Given the description of an element on the screen output the (x, y) to click on. 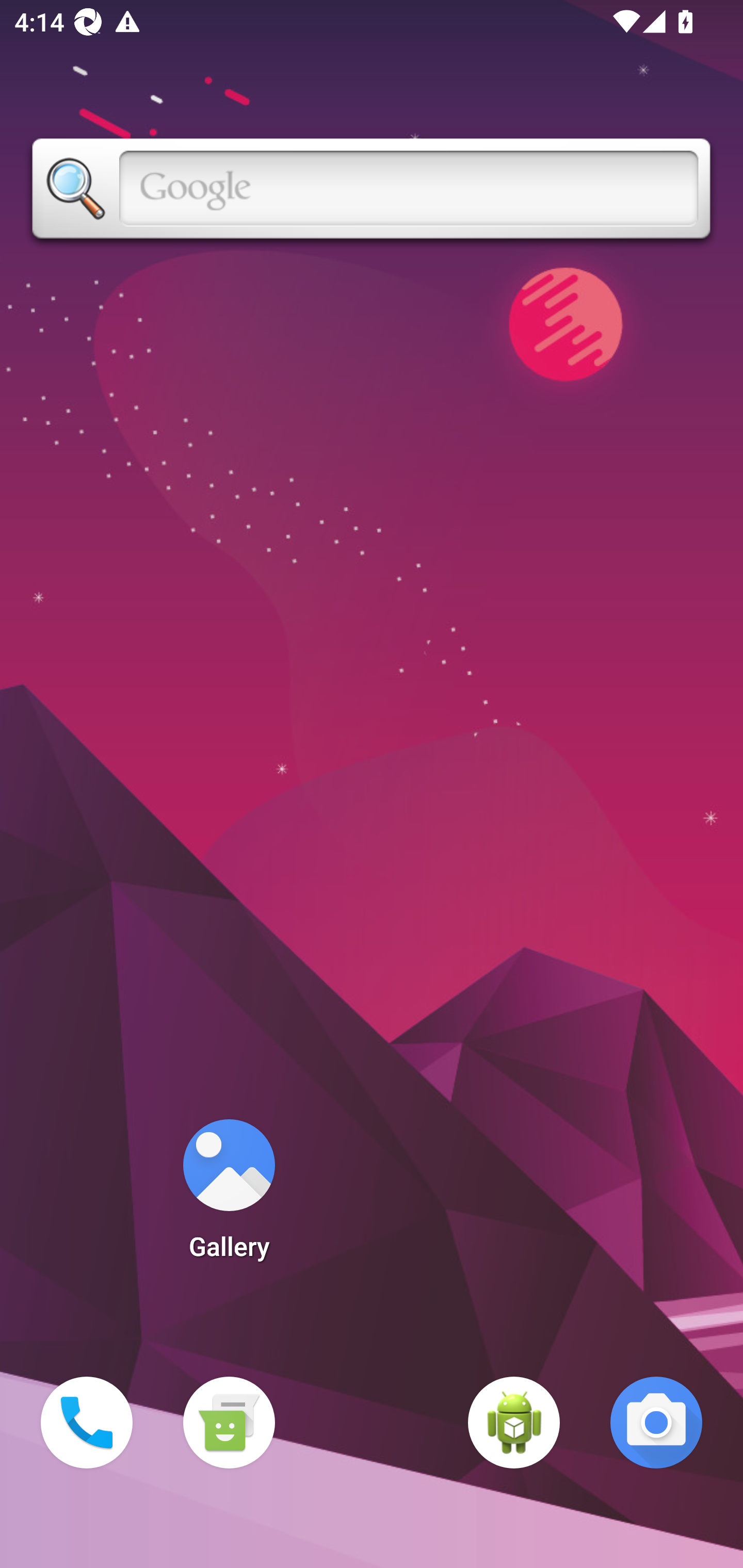
Gallery (228, 1195)
Phone (86, 1422)
Messaging (228, 1422)
WebView Browser Tester (513, 1422)
Camera (656, 1422)
